Given the description of an element on the screen output the (x, y) to click on. 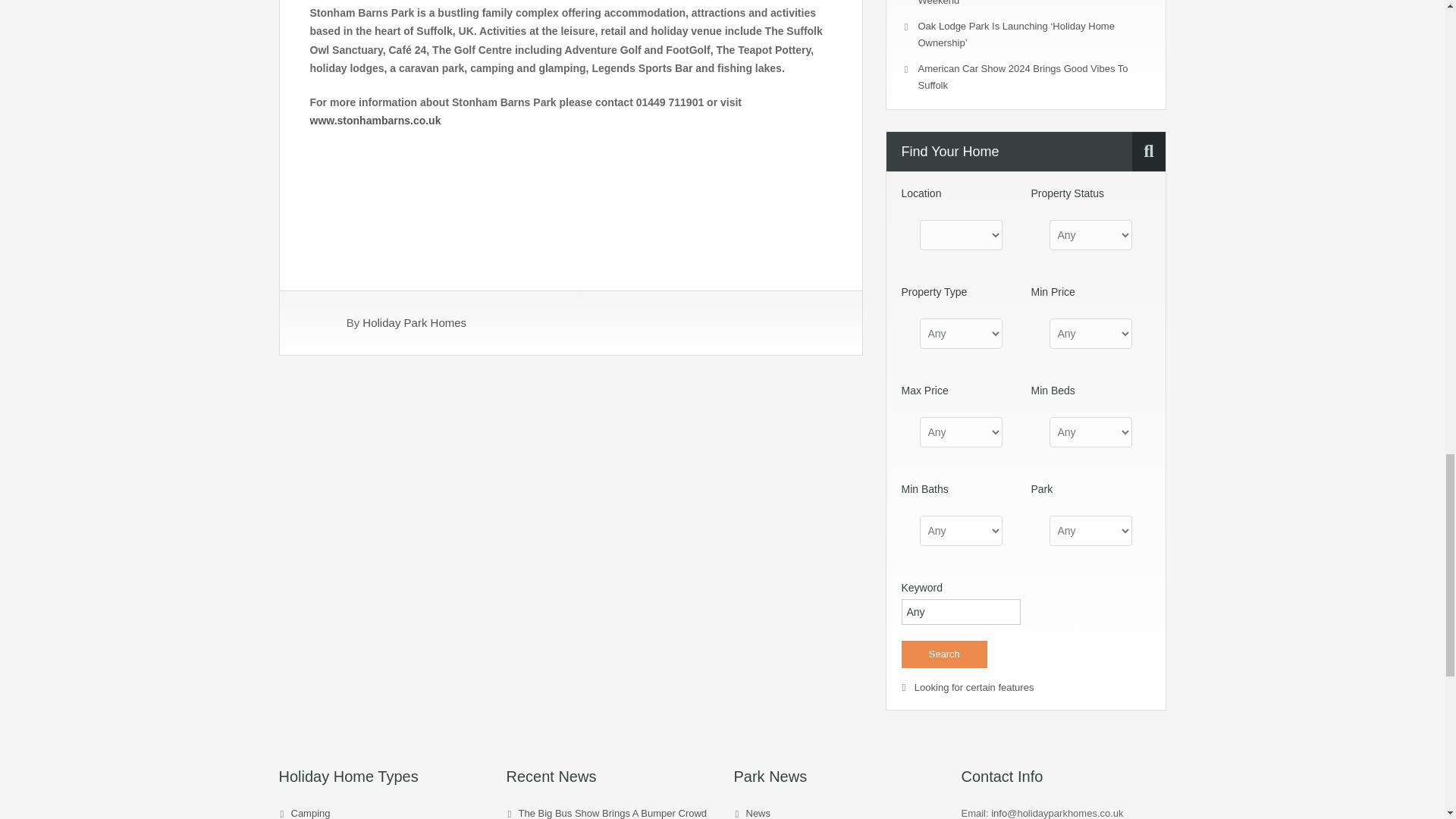
Search (944, 654)
Holiday Park Homes (413, 322)
www.stonhambarns.co.uk (374, 120)
